Given the description of an element on the screen output the (x, y) to click on. 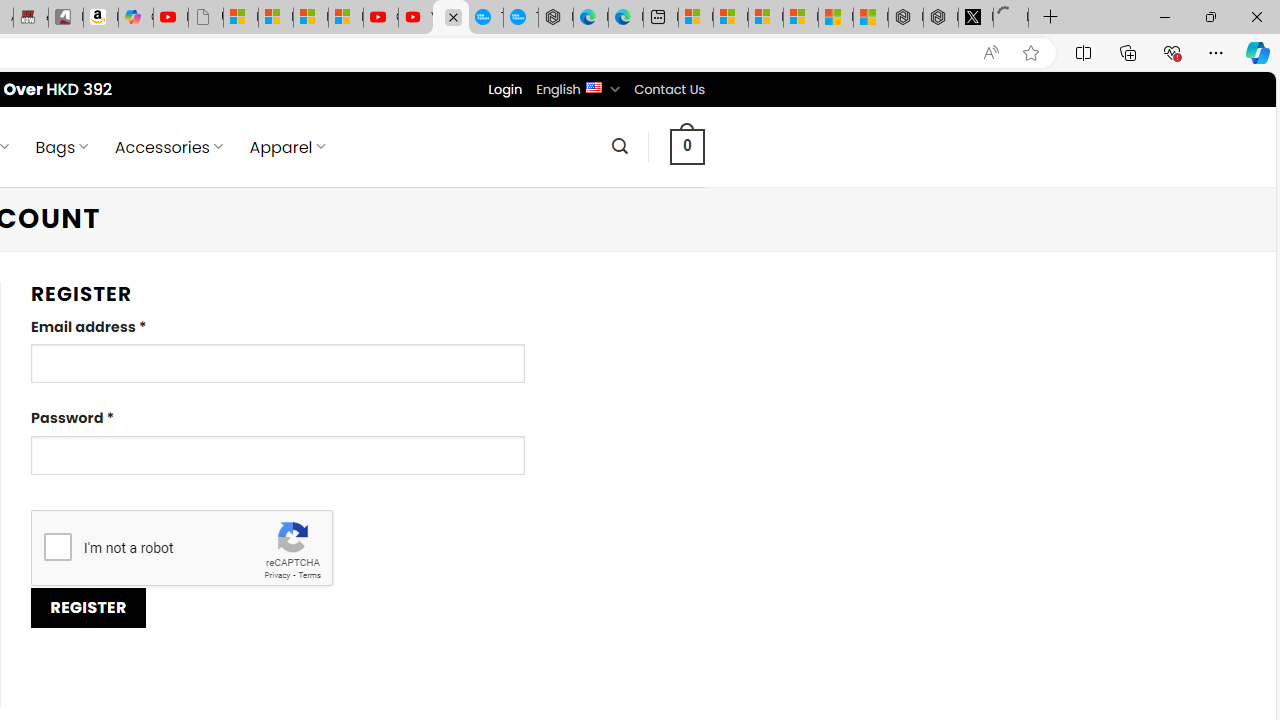
Nordace - My Account (450, 17)
Terms (309, 575)
